Given the description of an element on the screen output the (x, y) to click on. 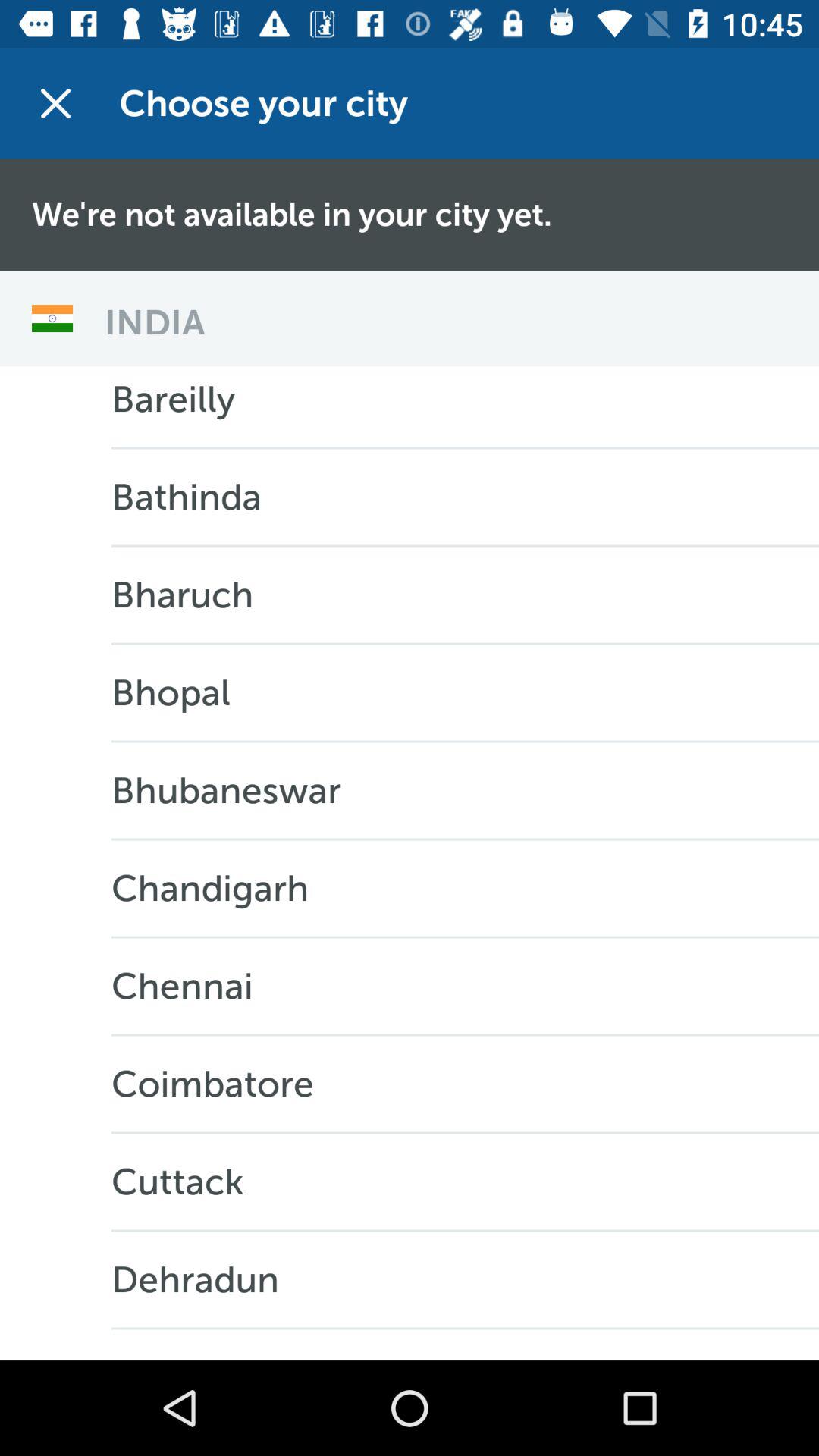
press app to the left of the choose your city item (55, 103)
